Given the description of an element on the screen output the (x, y) to click on. 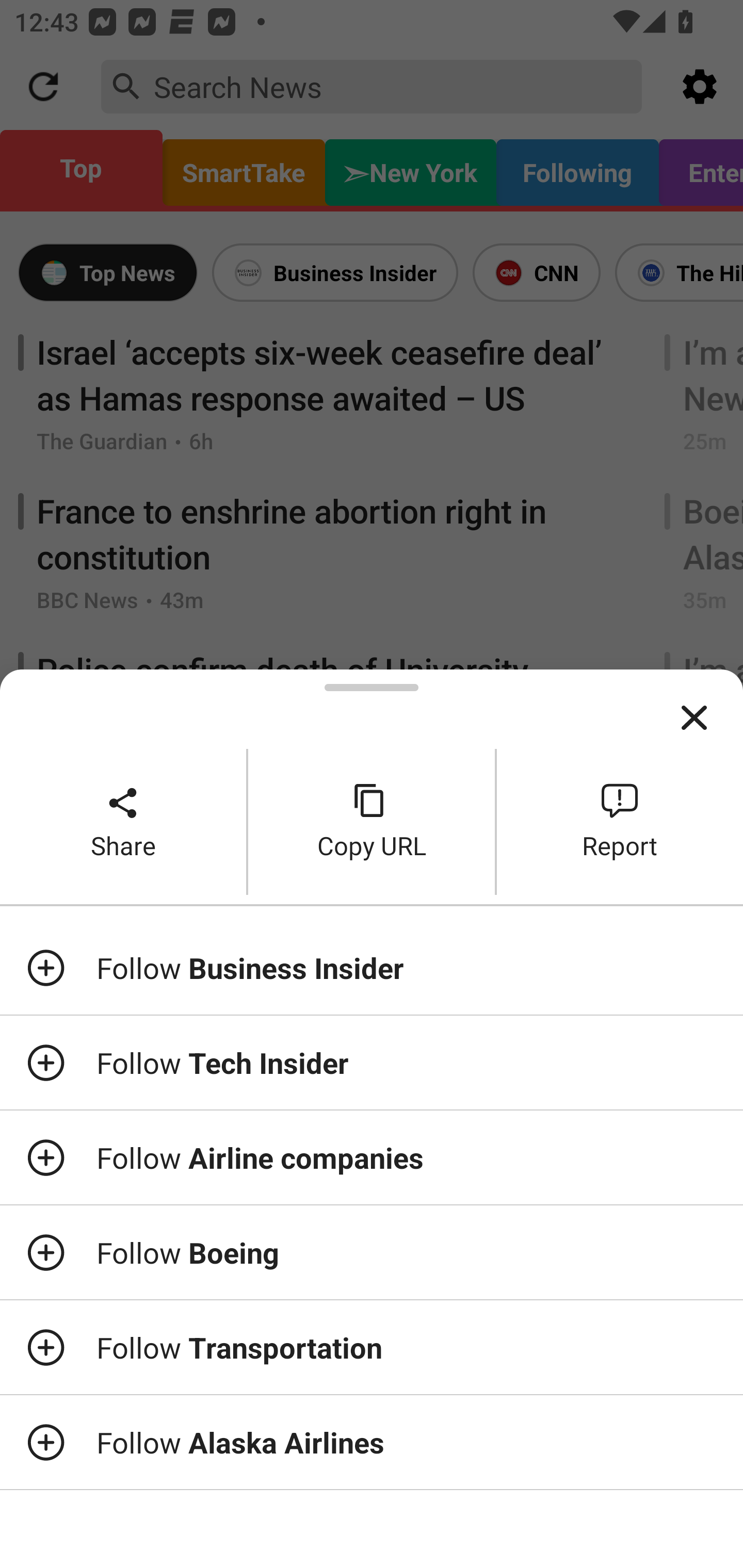
Close (694, 717)
Share (122, 822)
Copy URL (371, 822)
Report (620, 822)
Follow Business Insider (371, 967)
Follow Tech Insider (371, 1063)
Follow Airline companies (371, 1157)
Follow Boeing (371, 1252)
Follow Transportation (371, 1346)
Follow Alaska Airlines (371, 1442)
